Given the description of an element on the screen output the (x, y) to click on. 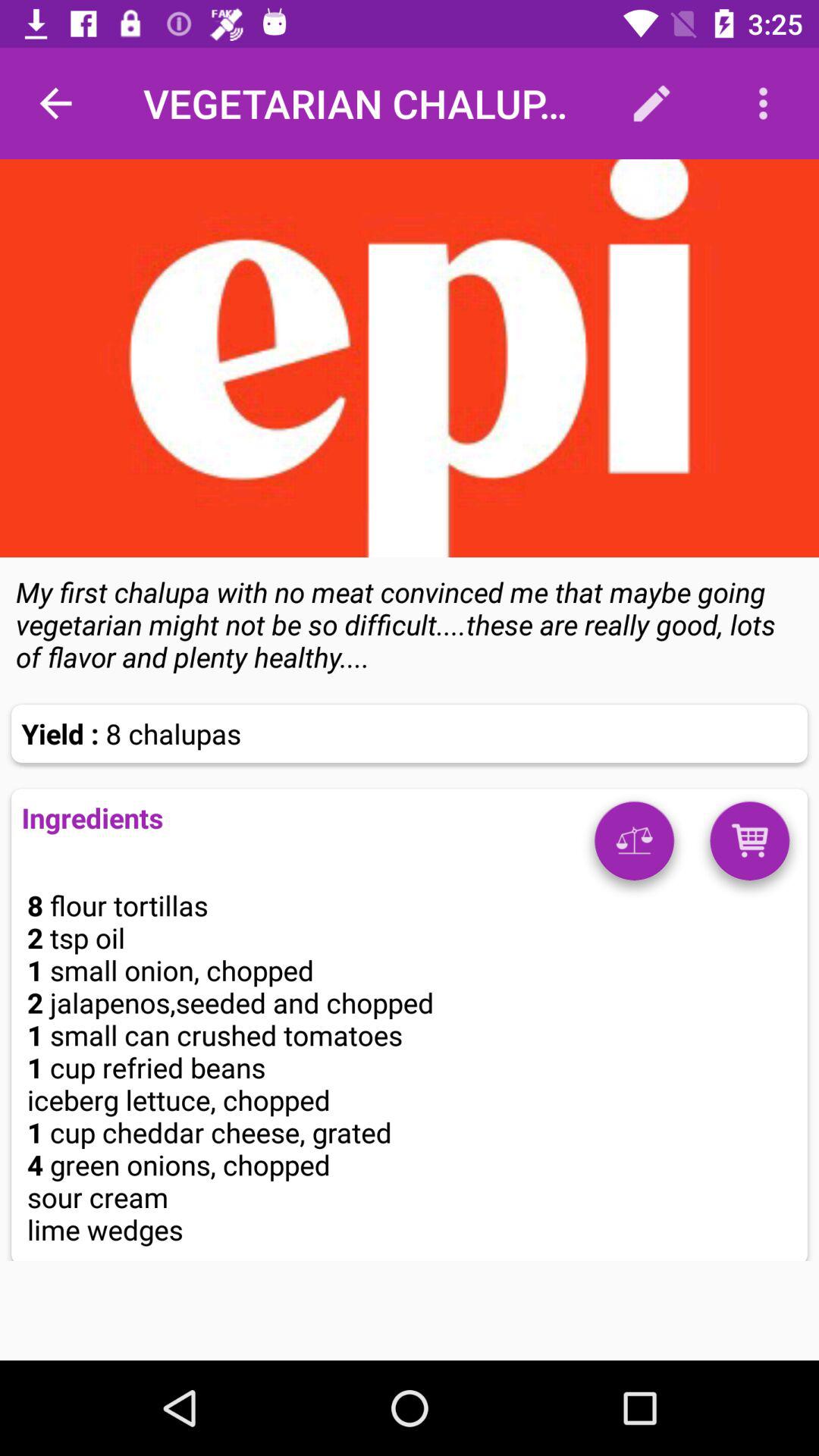
change weight (634, 846)
